Given the description of an element on the screen output the (x, y) to click on. 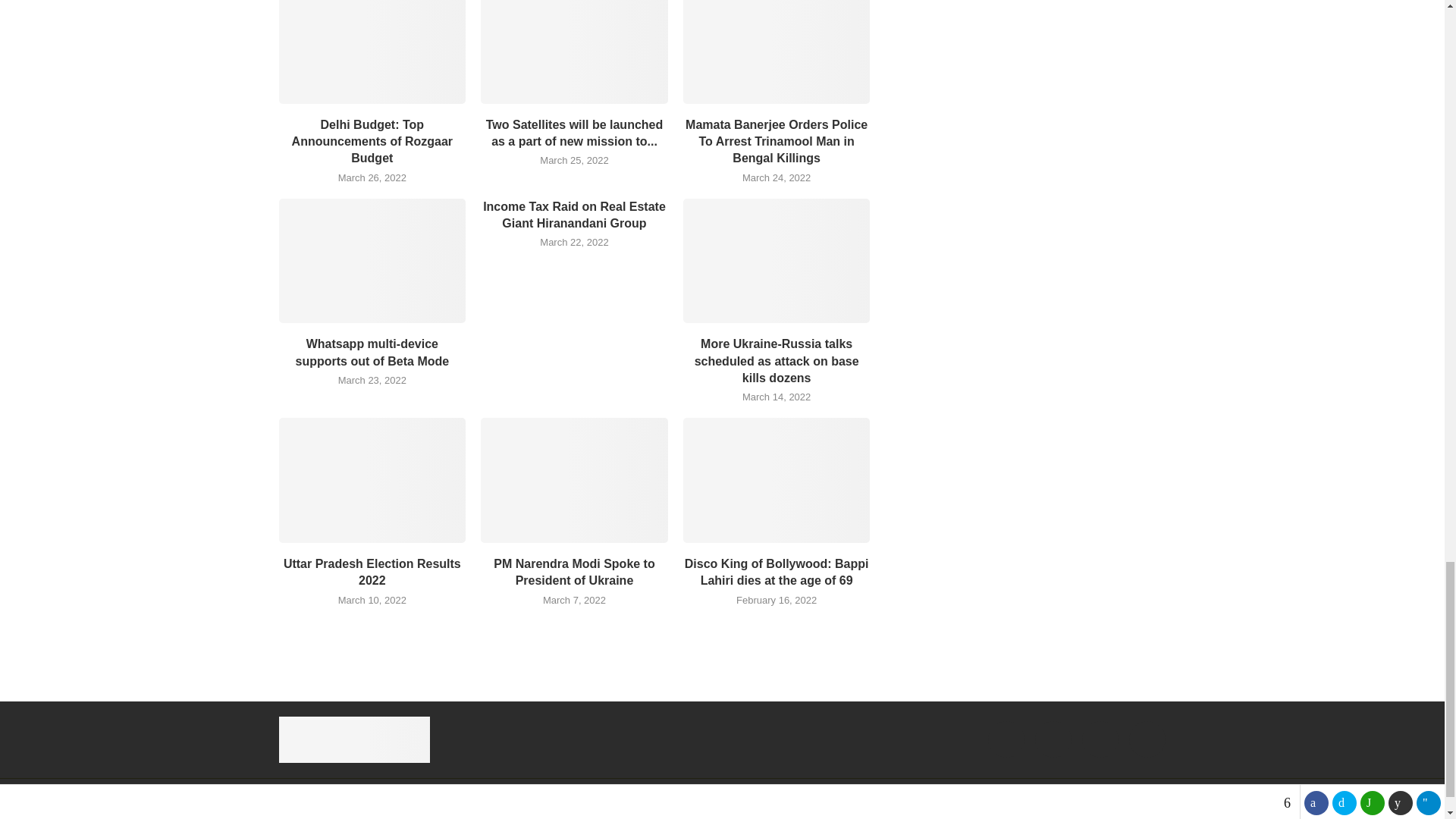
Whatsapp multi-device supports out of Beta Mode (372, 260)
Disco King of Bollywood: Bappi Lahiri dies at the age of 69 (776, 479)
Delhi Budget: Top Announcements of Rozgaar Budget (372, 51)
PM Narendra Modi Spoke to President of Ukraine (574, 479)
Uttar Pradesh Election Results 2022 (372, 479)
